Given the description of an element on the screen output the (x, y) to click on. 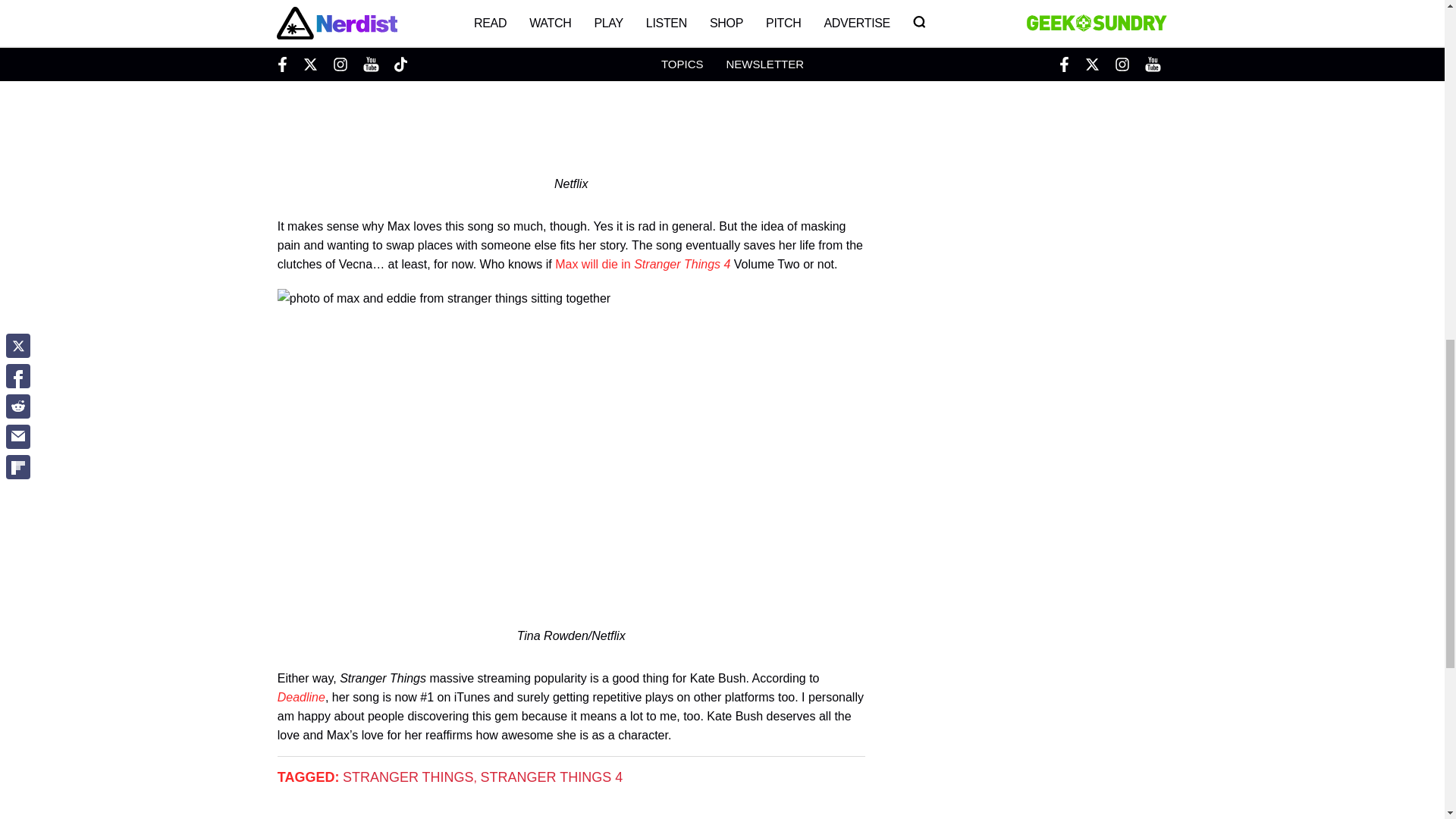
Max will die in Stranger Things 4 (642, 264)
STRANGER THINGS (408, 776)
STRANGER THINGS 4 (551, 776)
Deadline (301, 697)
